Given the description of an element on the screen output the (x, y) to click on. 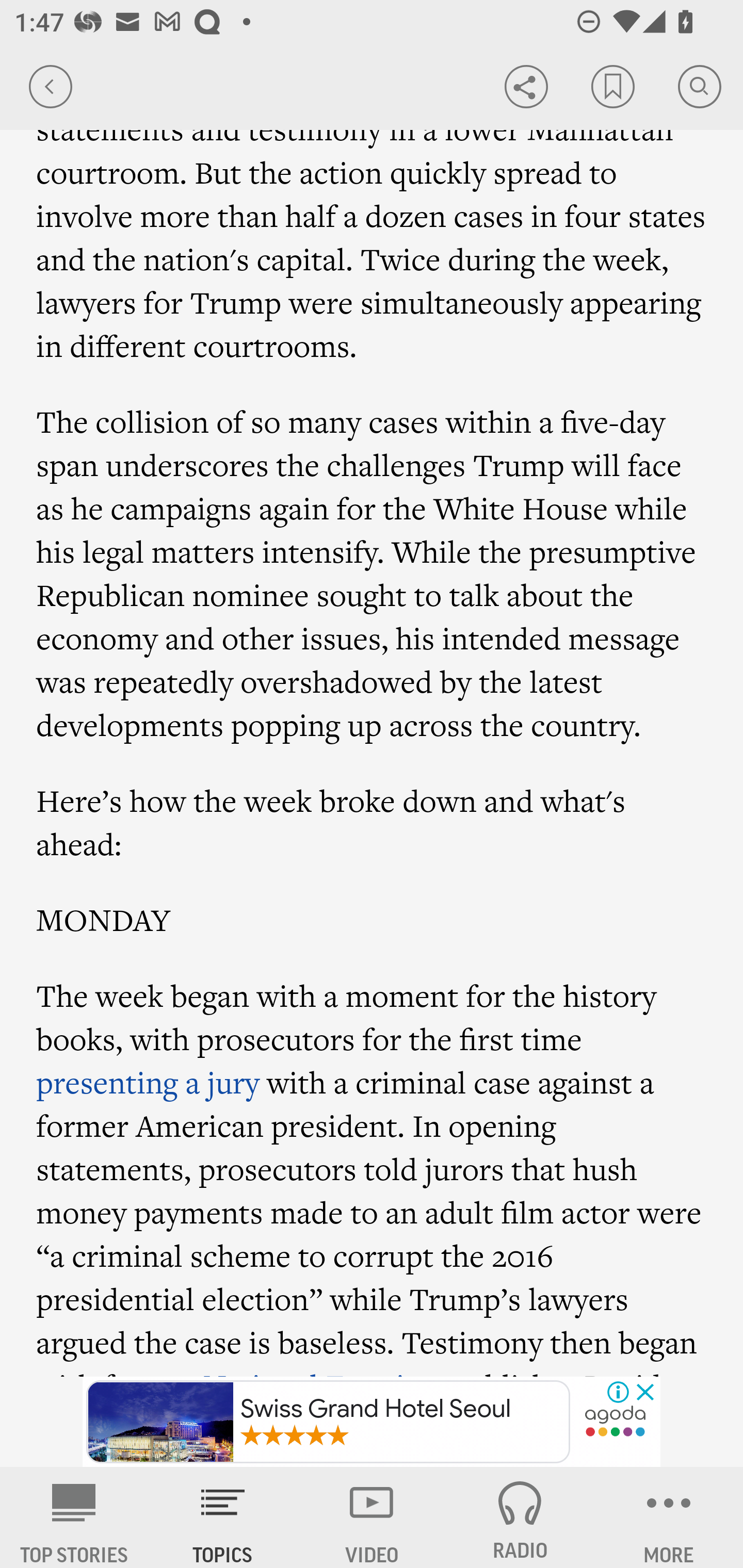
presenting a jury (148, 1082)
Swiss Grand Hotel Seoul (327, 1421)
partnersearch (615, 1422)
AP News TOP STORIES (74, 1517)
TOPICS (222, 1517)
VIDEO (371, 1517)
RADIO (519, 1517)
MORE (668, 1517)
